Given the description of an element on the screen output the (x, y) to click on. 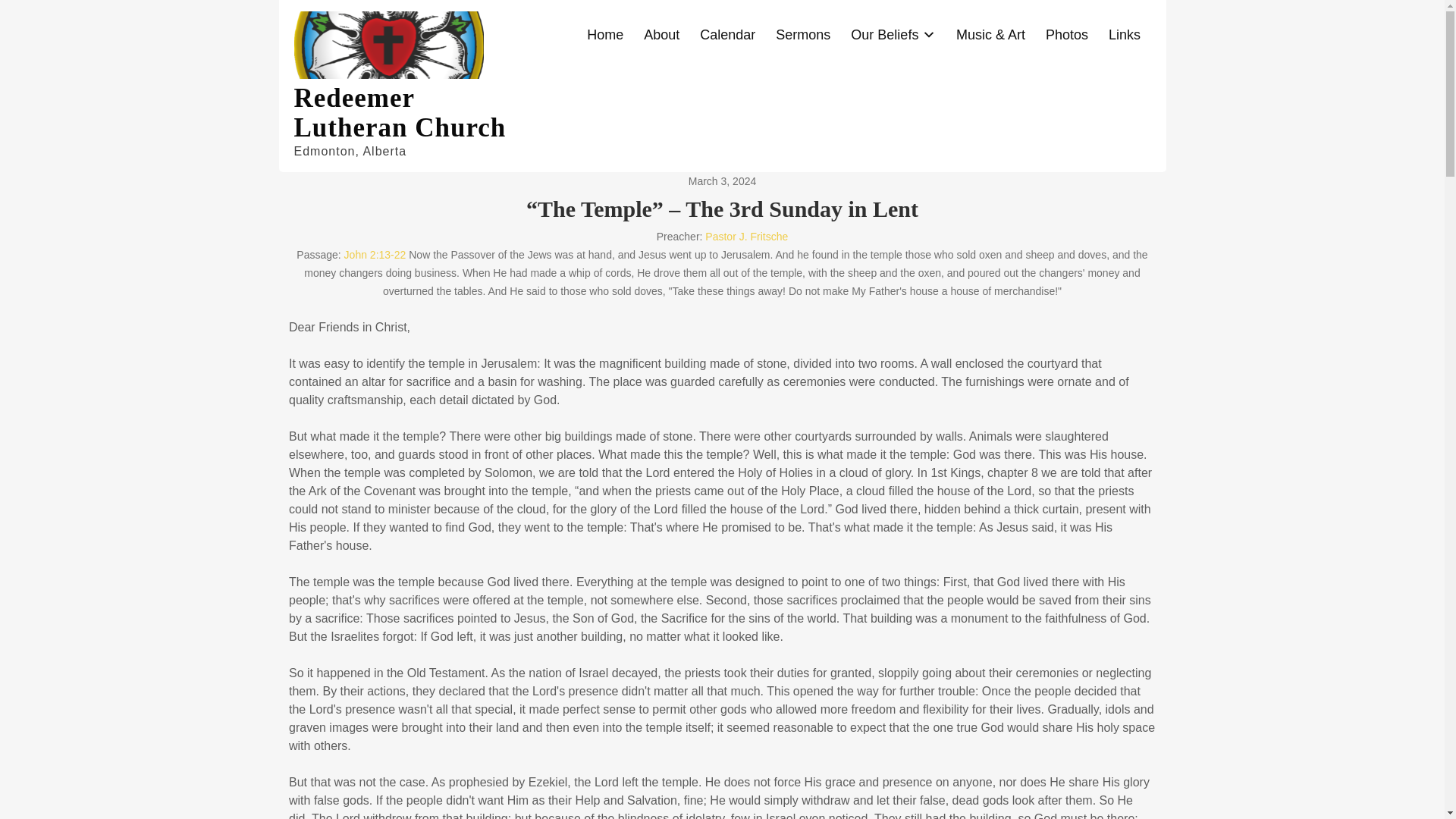
Photos (1066, 34)
Redeemer Lutheran Church (400, 112)
Pastor J. Fritsche (745, 236)
Sermons (803, 34)
Links (1123, 34)
About (661, 34)
Home (604, 34)
Calendar (727, 34)
Our Beliefs (893, 34)
John 2:13-22 (374, 254)
